Given the description of an element on the screen output the (x, y) to click on. 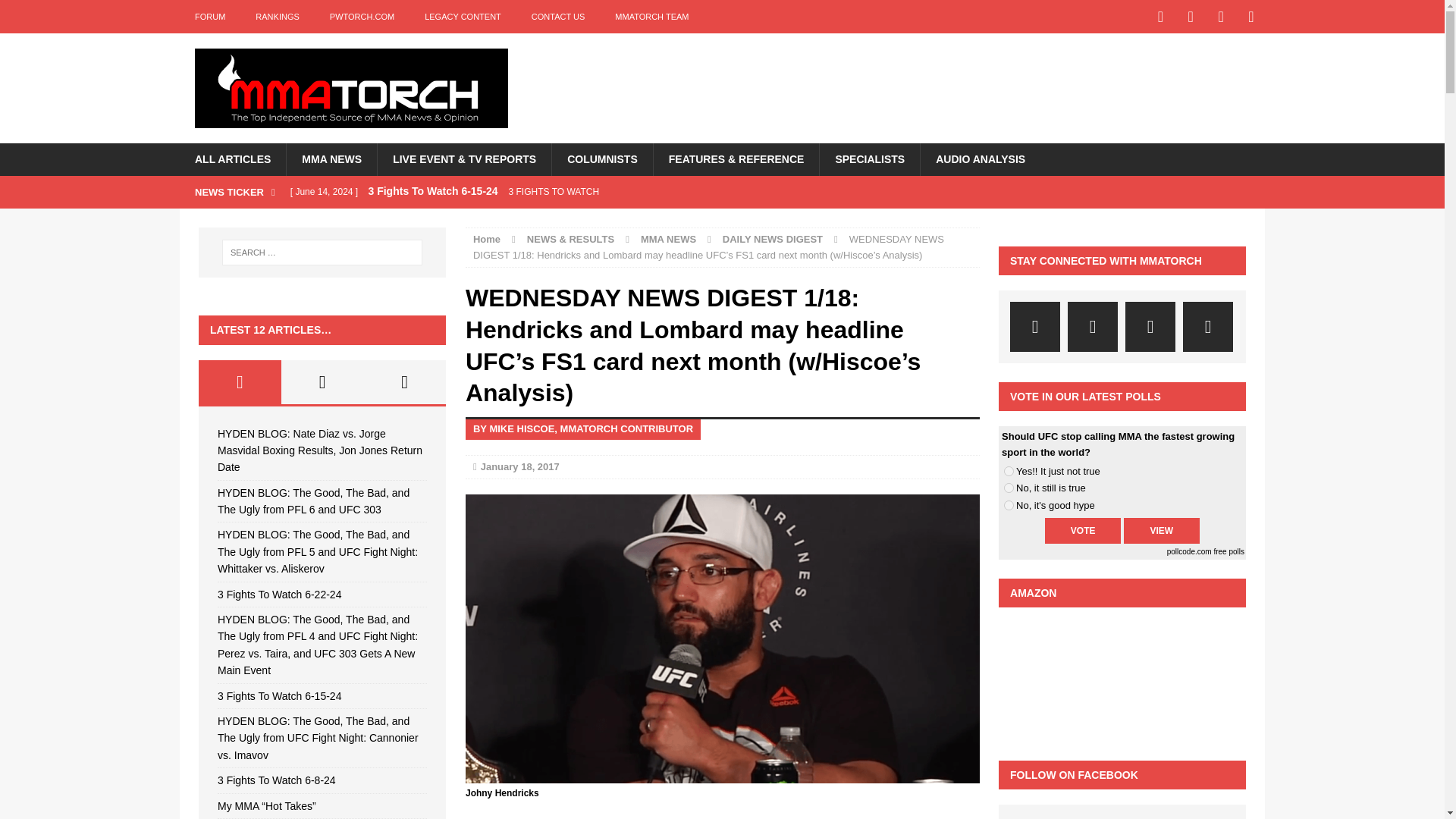
MMATorch (350, 88)
2 (1008, 488)
 View  (1161, 530)
3 (1008, 505)
1 (1008, 470)
 Vote  (1083, 530)
3 Fights To Watch 6-15-24 (582, 192)
